Given the description of an element on the screen output the (x, y) to click on. 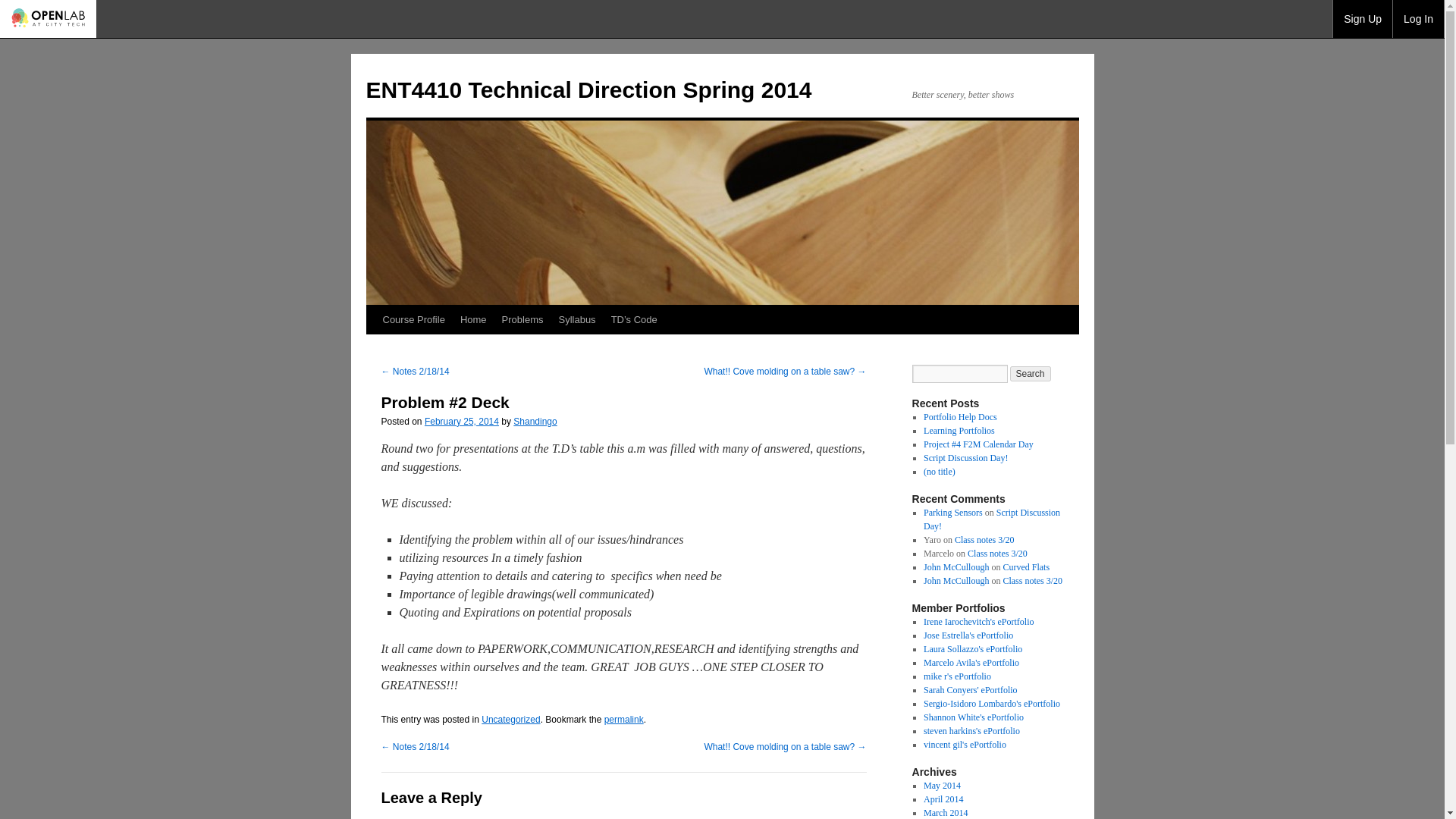
Uncategorized (510, 719)
Home (473, 318)
7:28 pm (462, 421)
View all posts by Shandingo (534, 421)
Sign Up (1362, 18)
permalink (623, 719)
Search (1030, 372)
February 25, 2014 (462, 421)
Shandingo (534, 421)
ENT4410 Technical Direction Spring 2014 (587, 89)
Course Profile (412, 318)
Search (1030, 372)
Syllabus (576, 318)
Problems (523, 318)
Site (412, 318)
